Given the description of an element on the screen output the (x, y) to click on. 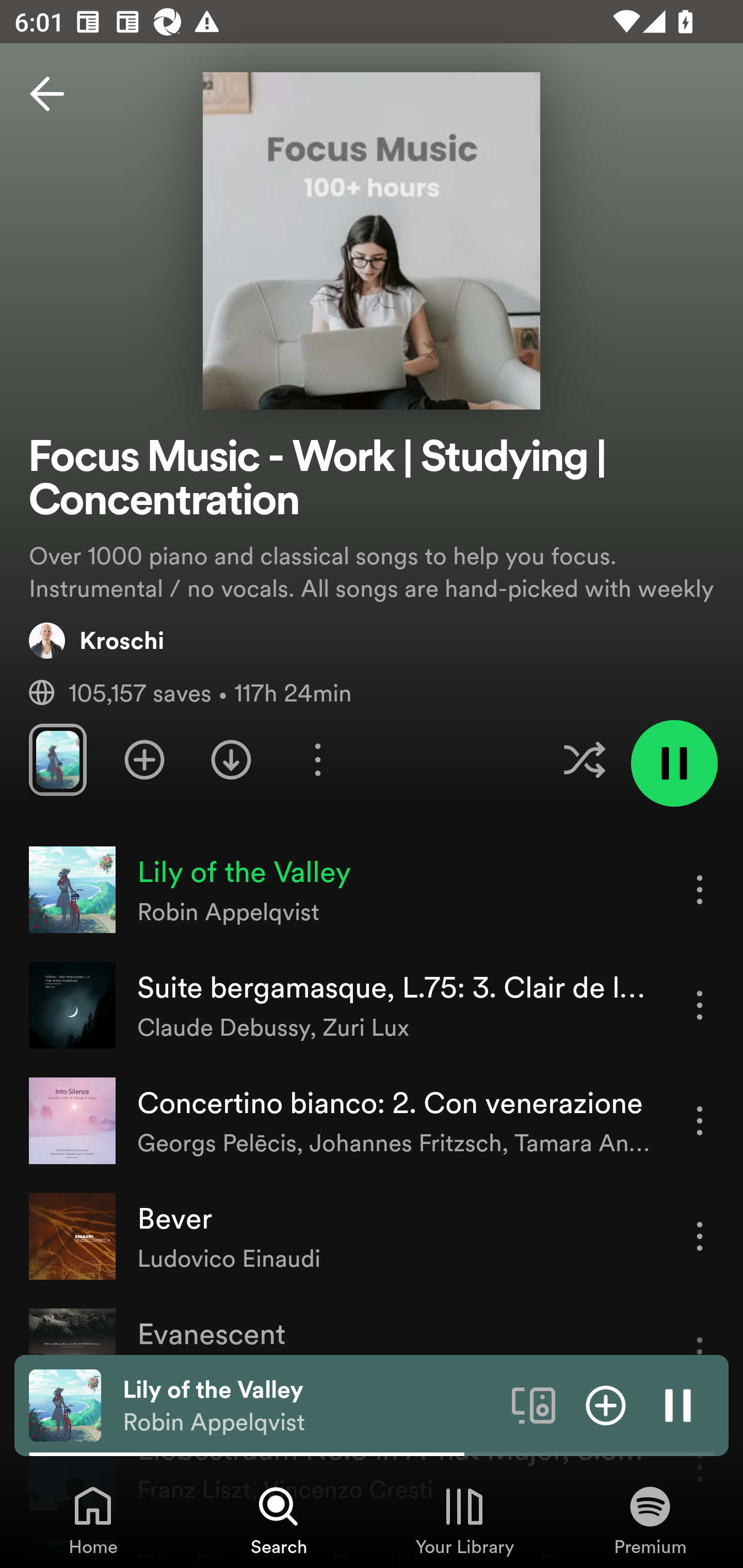
Back (46, 93)
Kroschi (96, 640)
Swipe through previews of tracks in this playlist. (57, 759)
Add playlist to Your Library (144, 759)
Download (230, 759)
Enable shuffle for this playlist (583, 759)
Pause playlist (674, 763)
More options for song Lily of the Valley (699, 889)
Bever Ludovico Einaudi More options for song Bever (371, 1236)
More options for song Bever (699, 1236)
Lily of the Valley Robin Appelqvist (309, 1405)
The cover art of the currently playing track (64, 1404)
Connect to a device. Opens the devices menu (533, 1404)
Add item (605, 1404)
Pause (677, 1404)
Home, Tab 1 of 4 Home Home (92, 1519)
Search, Tab 2 of 4 Search Search (278, 1519)
Your Library, Tab 3 of 4 Your Library Your Library (464, 1519)
Premium, Tab 4 of 4 Premium Premium (650, 1519)
